Given the description of an element on the screen output the (x, y) to click on. 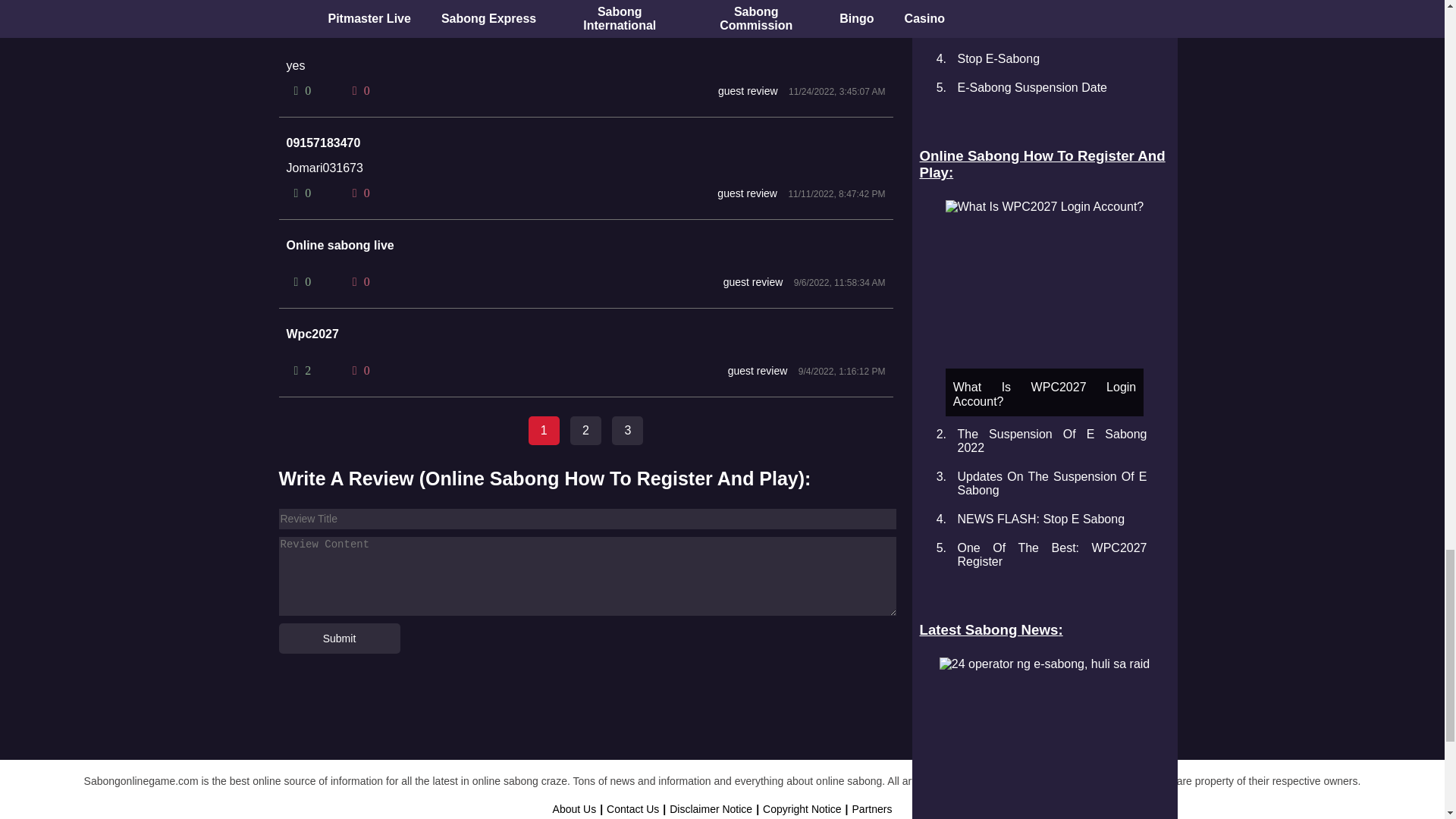
What Is WPC2027 Login Account? (1043, 307)
The Suspension Of E Sabong 2022 (1051, 440)
Latest Sabong News (1043, 629)
One Of The Best: WPC2027 Register (1051, 554)
E-Sabong Suspension Date (1031, 87)
NEWS FLASH: Stop E Sabong (1040, 518)
What Is WPC2027 Login Account? (1043, 206)
Updates On The Suspension Of E Sabong (1051, 483)
Stop E-Sabong (997, 58)
Check Out the Latest WPC 2021 Schedule Today (1051, 22)
